Given the description of an element on the screen output the (x, y) to click on. 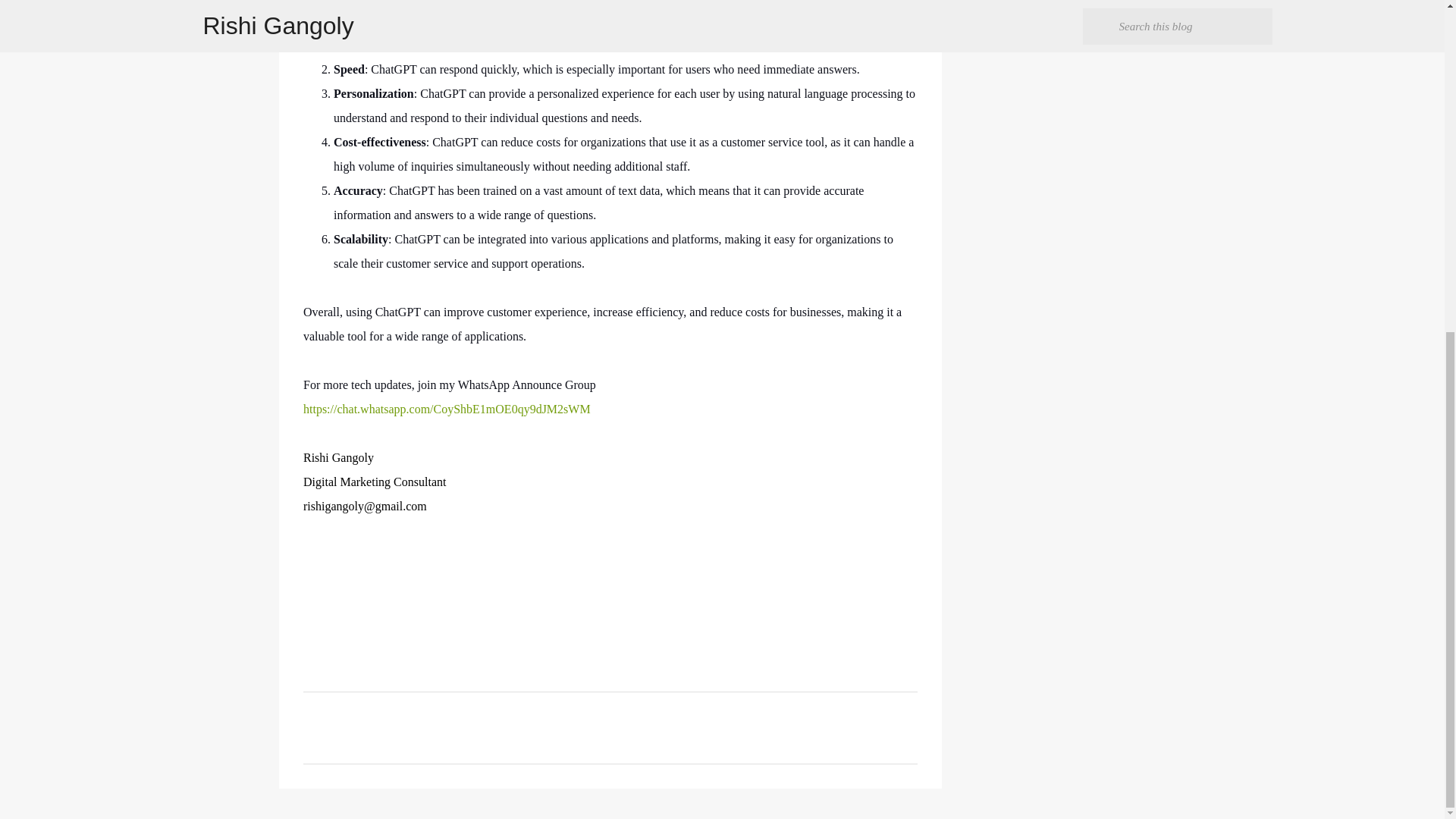
Email Post (311, 593)
